Given the description of an element on the screen output the (x, y) to click on. 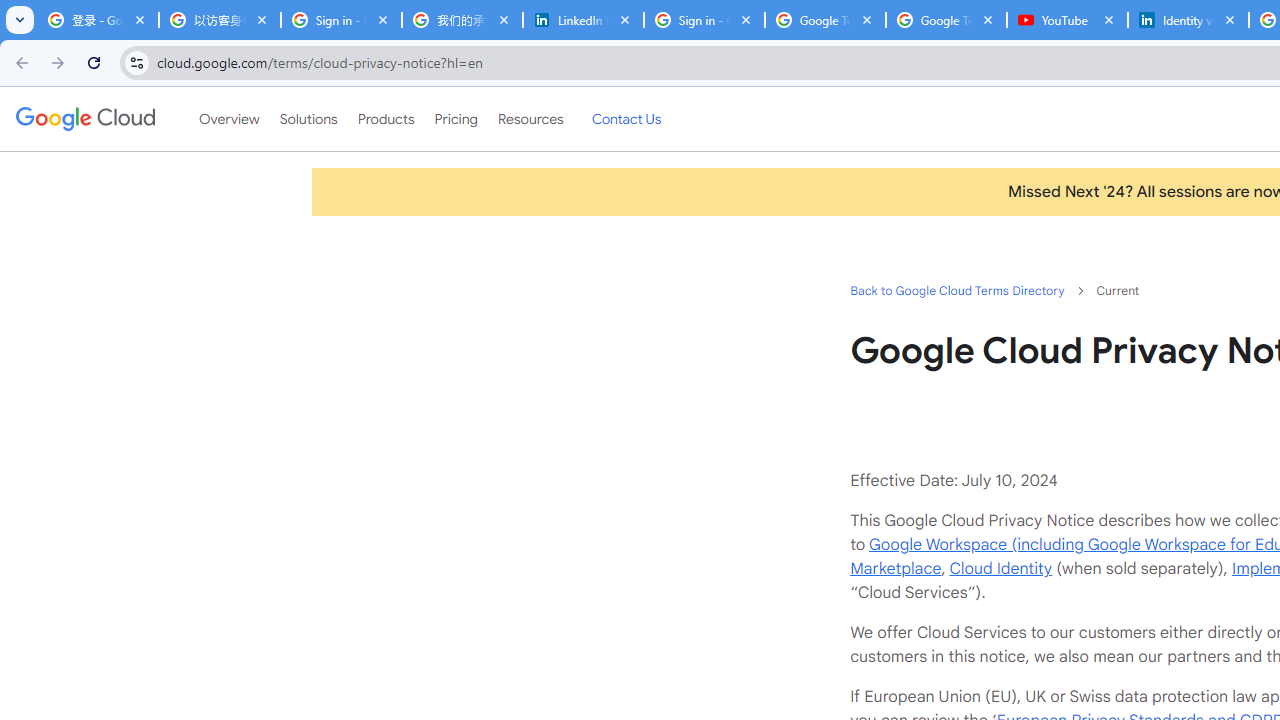
Resources (530, 119)
Contact Us (626, 119)
Solutions (308, 119)
YouTube (1067, 20)
Cloud Identity (1000, 568)
Google Cloud (84, 118)
